Given the description of an element on the screen output the (x, y) to click on. 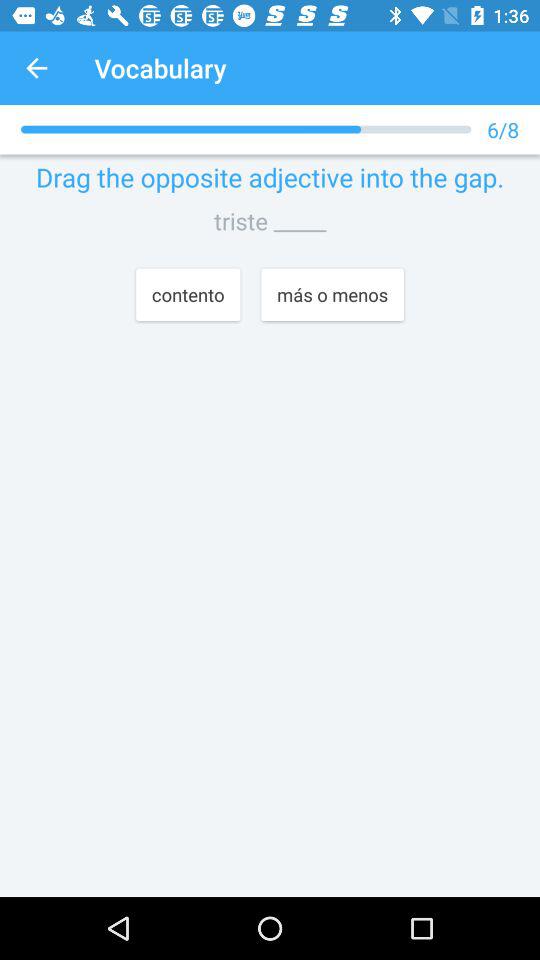
turn on app next to the vocabulary app (36, 68)
